Given the description of an element on the screen output the (x, y) to click on. 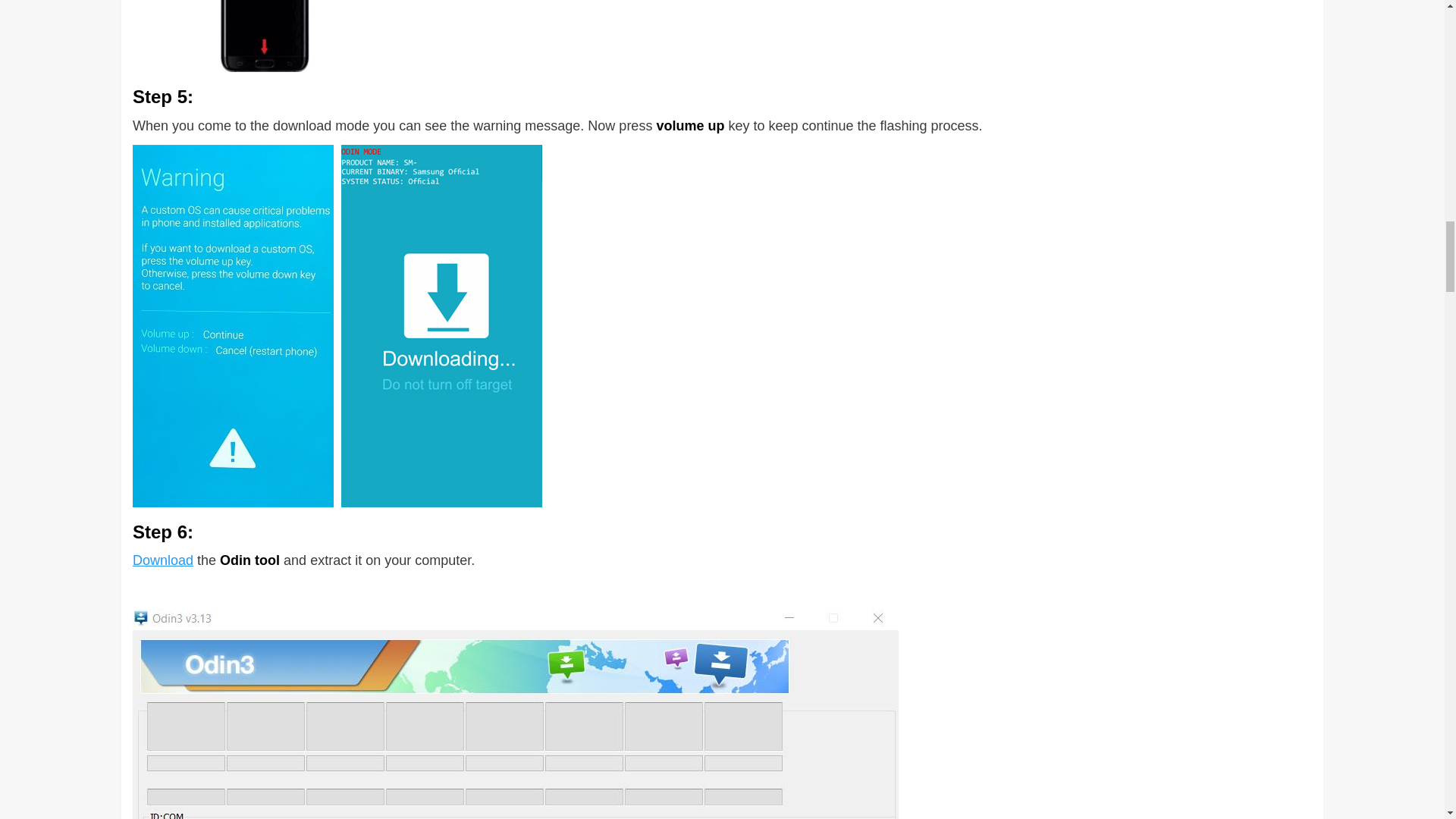
Download (162, 560)
